Given the description of an element on the screen output the (x, y) to click on. 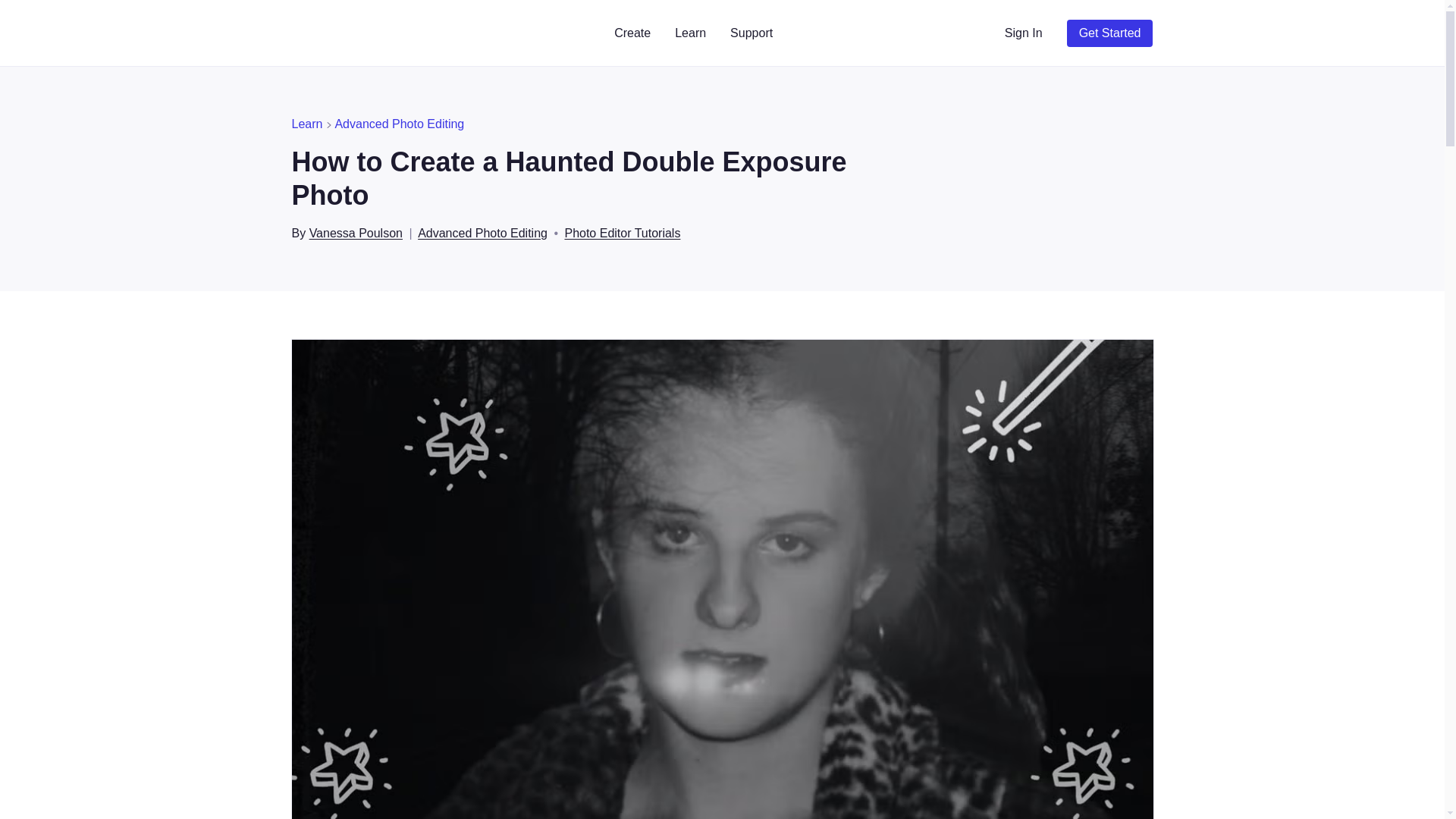
Support (750, 32)
BeFunky (342, 33)
Sign In (1023, 32)
Get Started (1110, 32)
